Given the description of an element on the screen output the (x, y) to click on. 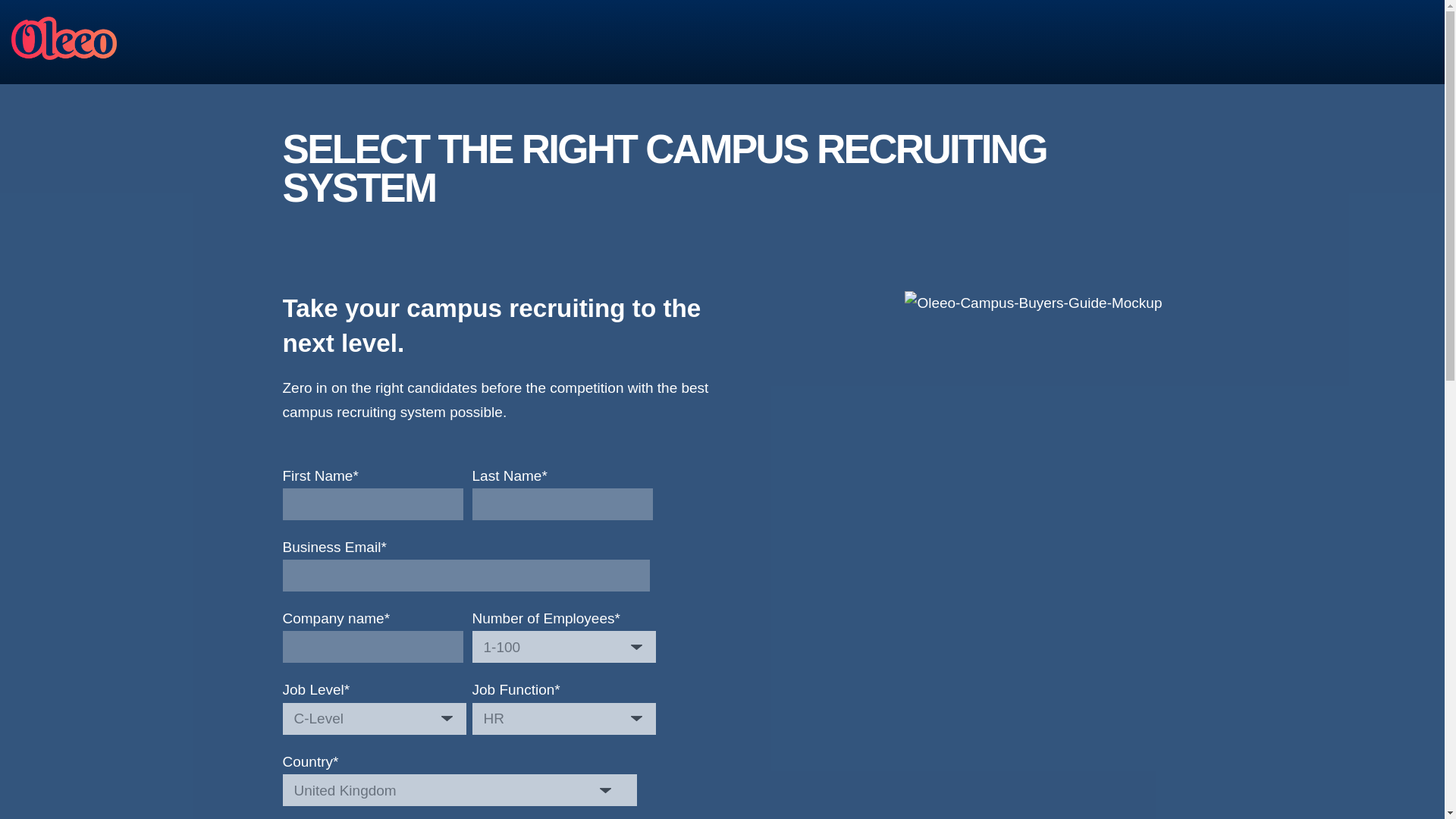
Oleeo-Campus-Buyers-Guide-Mockup (1032, 303)
